Given the description of an element on the screen output the (x, y) to click on. 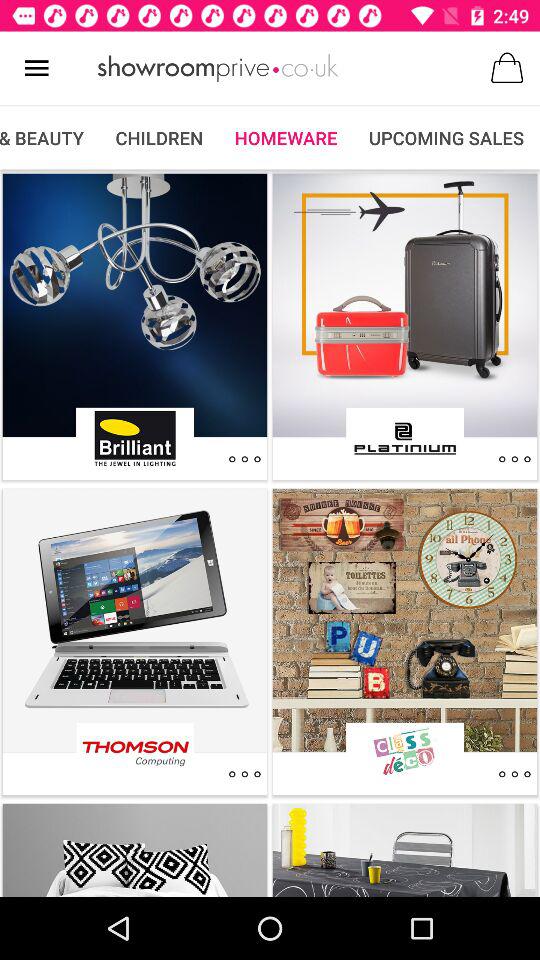
settings for product (514, 459)
